Given the description of an element on the screen output the (x, y) to click on. 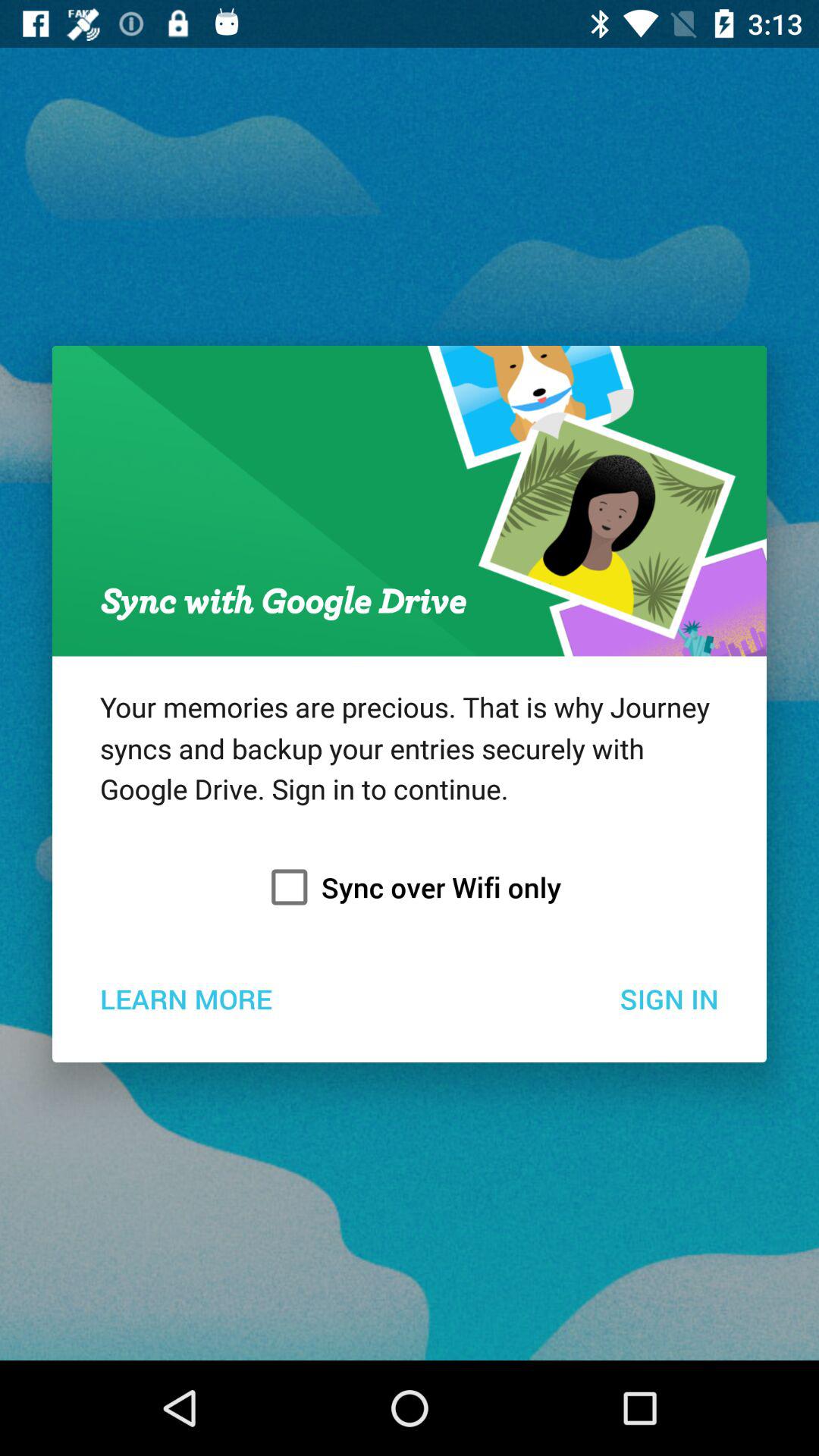
choose learn more item (185, 998)
